Given the description of an element on the screen output the (x, y) to click on. 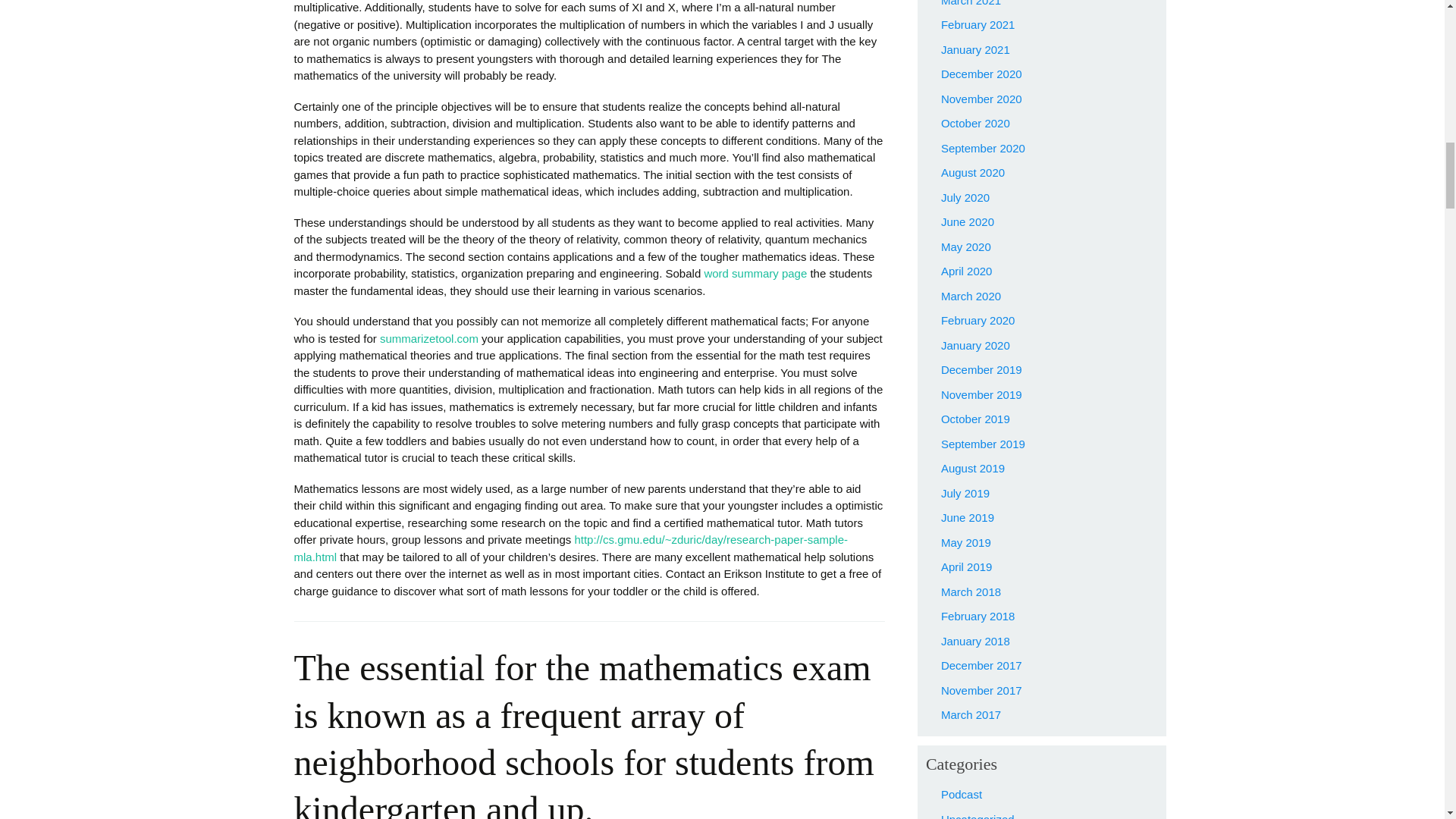
summarizetool.com (429, 338)
word summary page (754, 273)
